Given the description of an element on the screen output the (x, y) to click on. 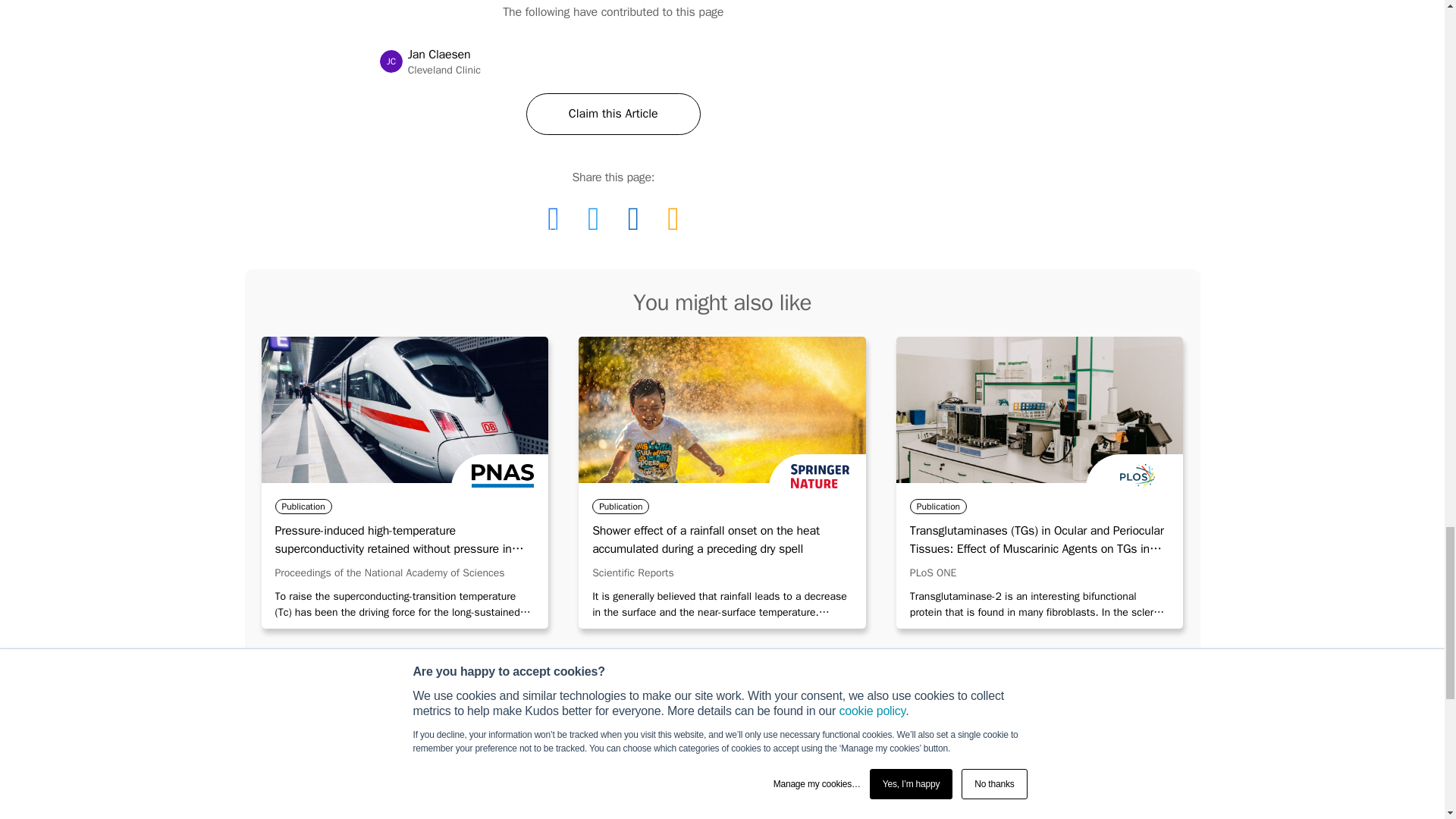
PLoS ONE (933, 572)
Share this page via email (672, 218)
Share this page via Facebook (553, 218)
Scientific Reports (633, 572)
Physical Sciences (840, 765)
Life Sciences (391, 60)
Technology and Engineering (602, 765)
Claim this Article (1078, 765)
Share this page via Twitter (612, 114)
Proceedings of the National Academy of Sciences (593, 218)
